Given the description of an element on the screen output the (x, y) to click on. 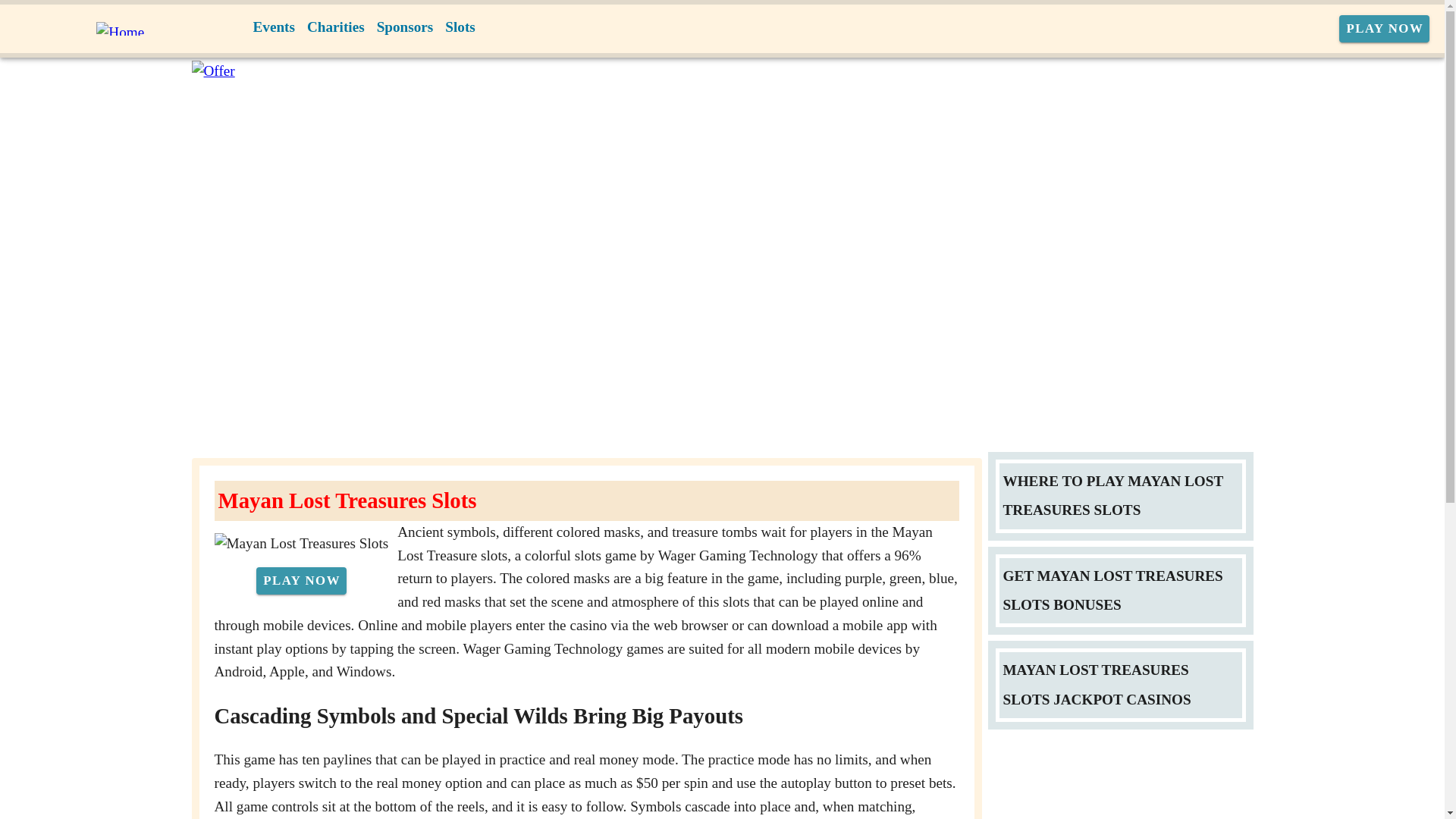
PLAY NOW (301, 580)
Charities (336, 27)
Slots (459, 27)
Sponsors (405, 27)
PLAY NOW (1384, 28)
Events (274, 27)
